Given the description of an element on the screen output the (x, y) to click on. 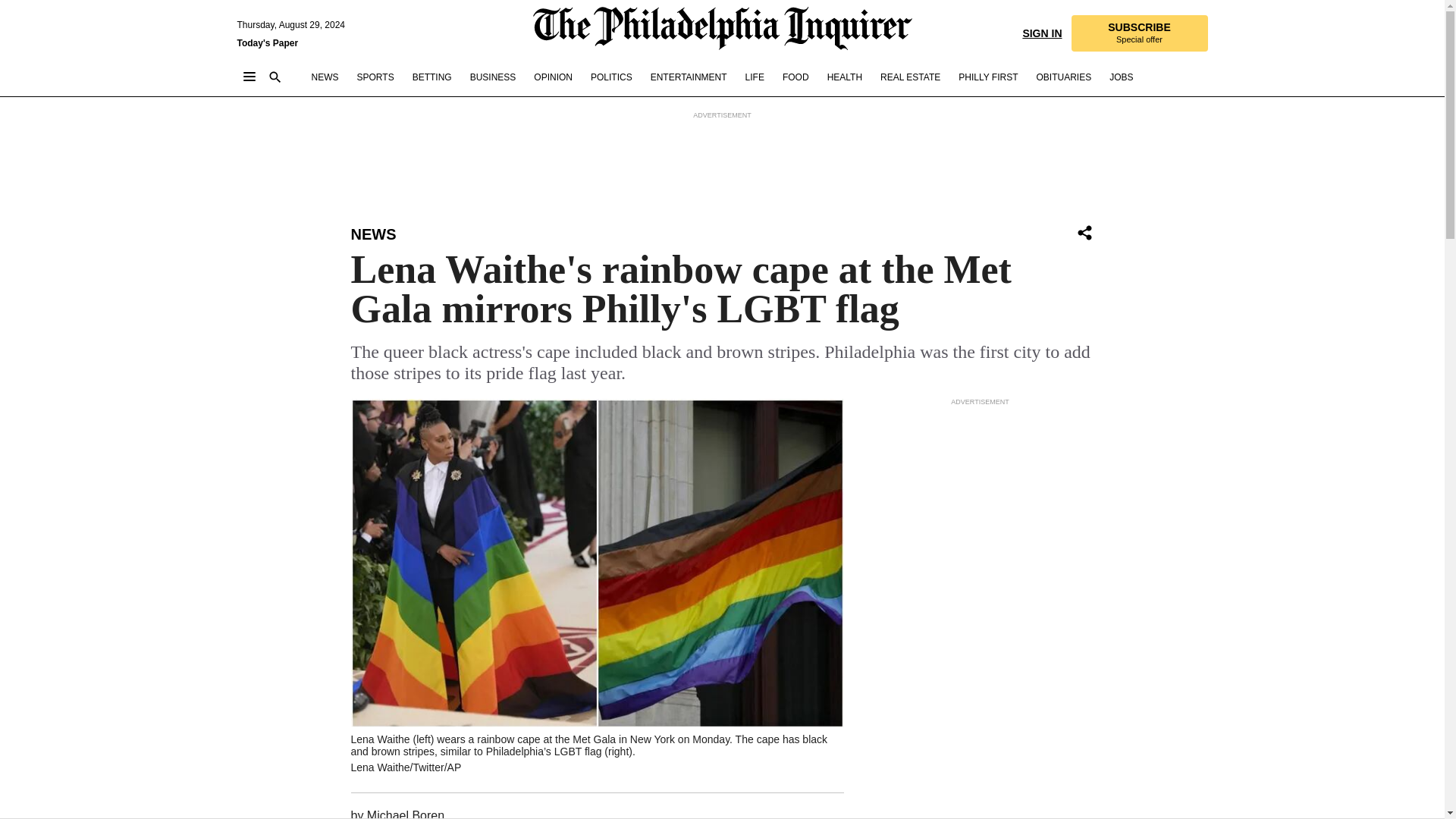
SIGN IN (1041, 32)
Michael Boren (1138, 33)
POLITICS (405, 814)
NEWS (611, 77)
OPINION (373, 234)
REAL ESTATE (553, 77)
Share Icon (910, 77)
NEWS (1084, 232)
FOOD (325, 77)
